Given the description of an element on the screen output the (x, y) to click on. 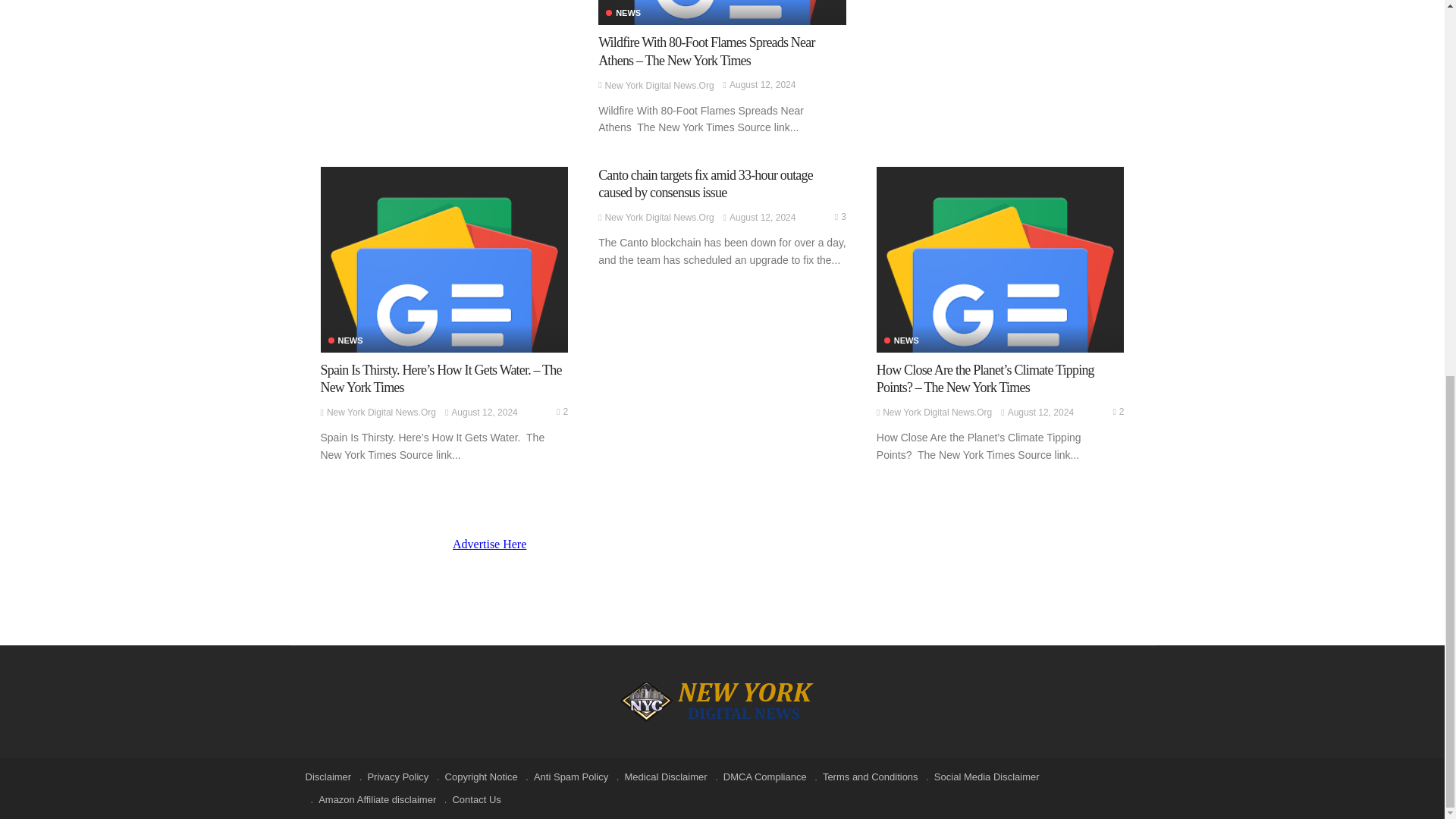
News (344, 340)
News (622, 13)
